Given the description of an element on the screen output the (x, y) to click on. 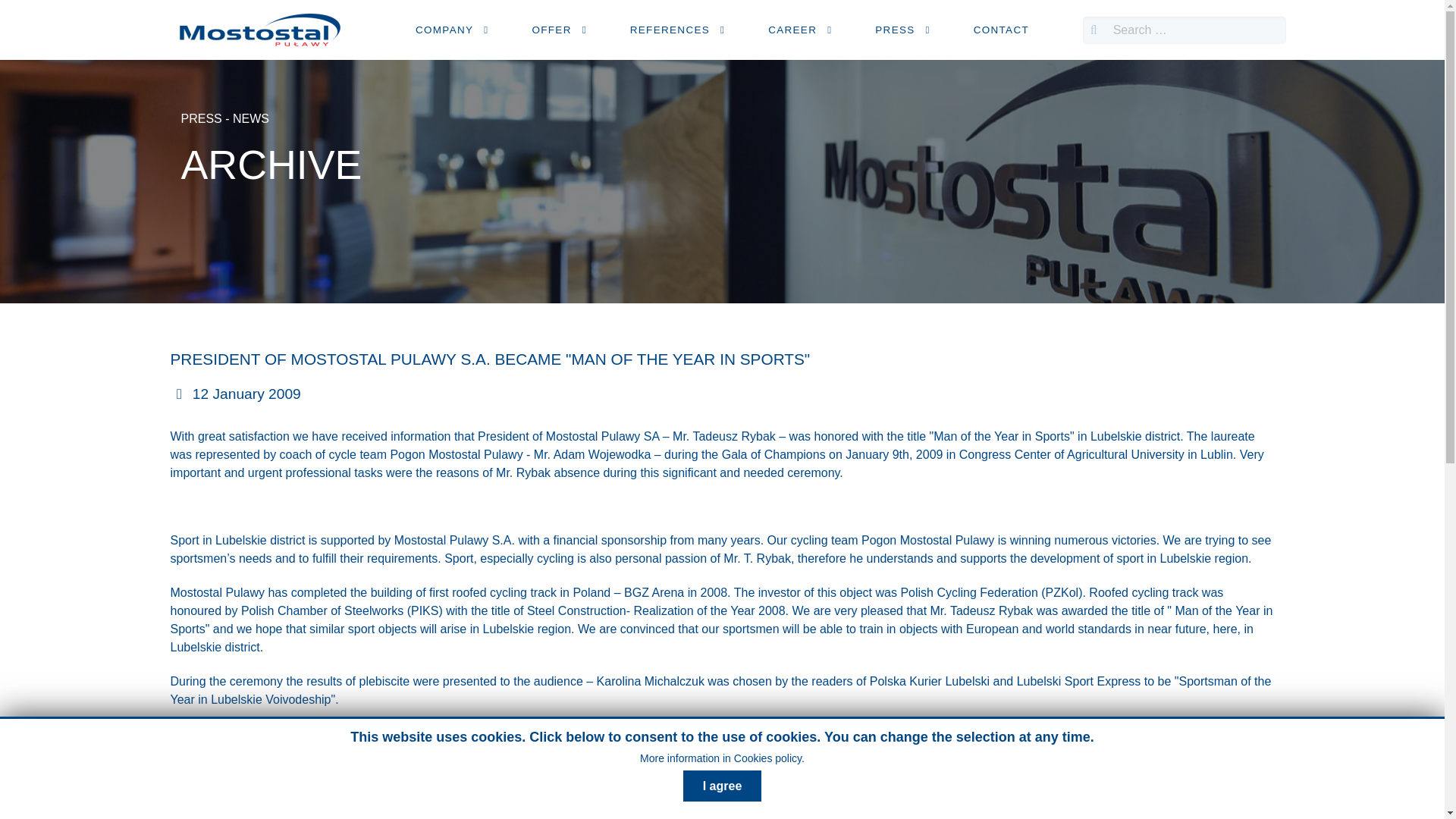
OFFER (562, 30)
REFERENCES (680, 30)
CAREER (803, 30)
COMPANY (455, 30)
